Given the description of an element on the screen output the (x, y) to click on. 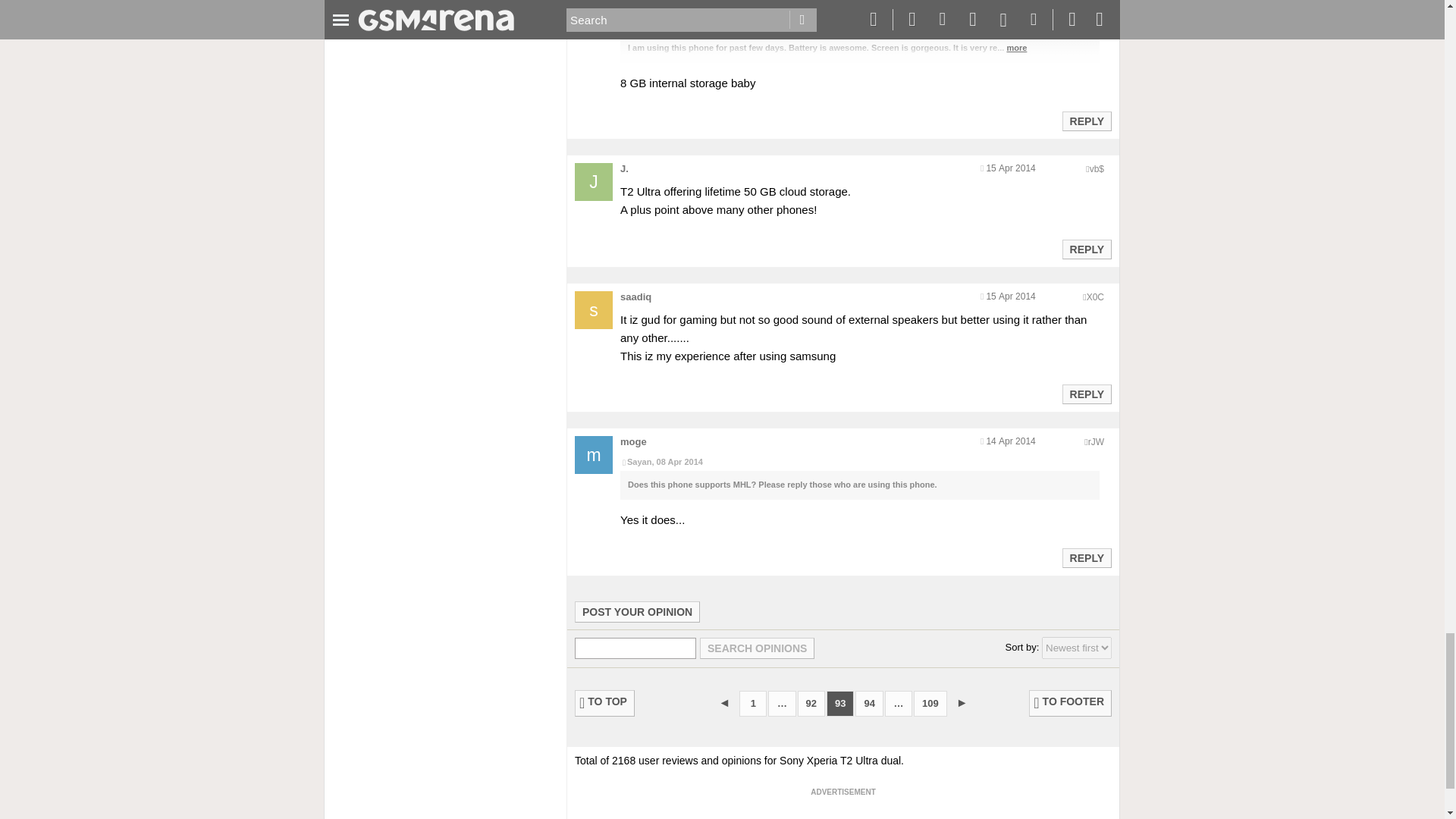
Search opinions (756, 648)
TO TOP (604, 703)
